Given the description of an element on the screen output the (x, y) to click on. 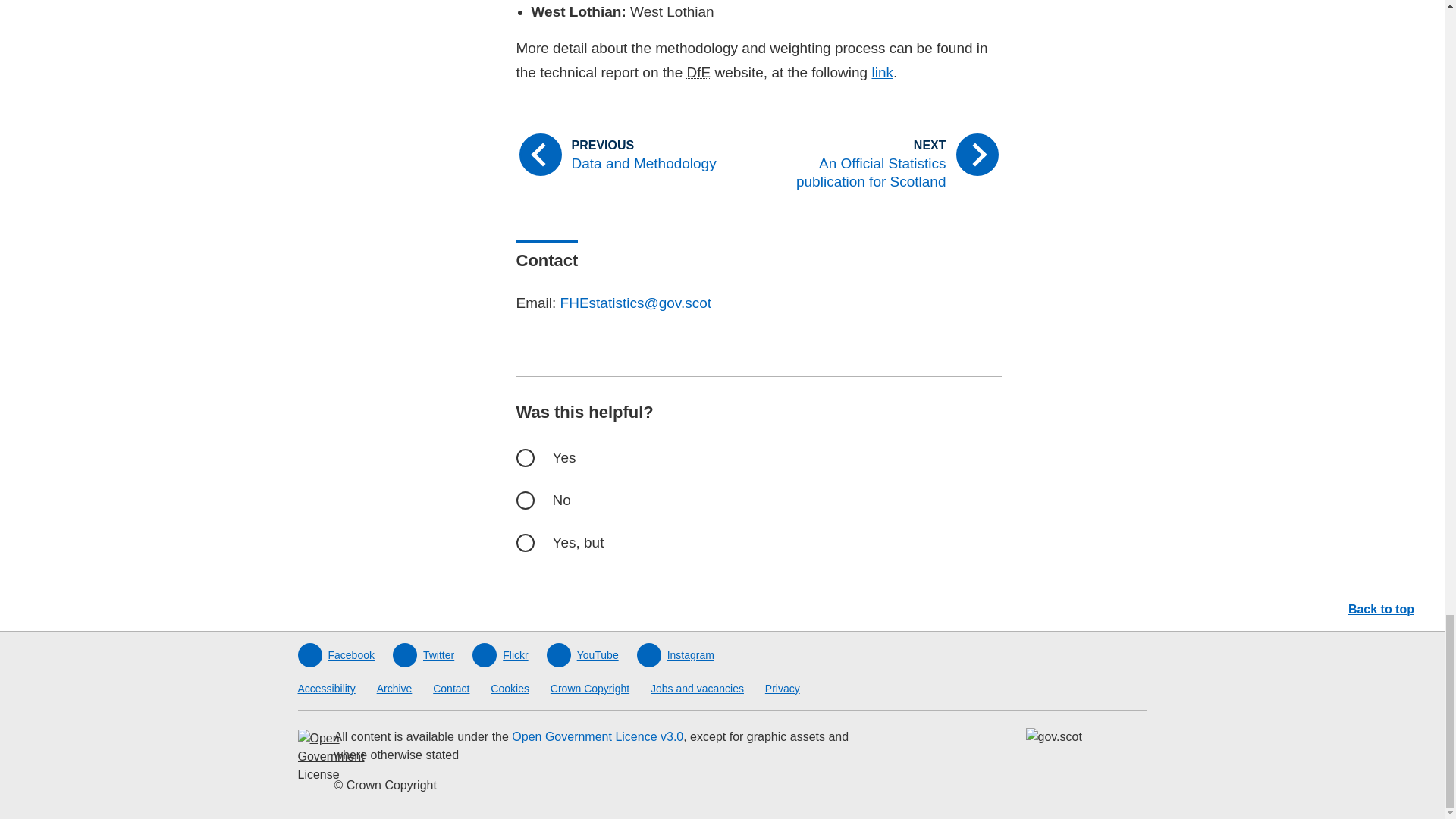
Twitter (423, 654)
Instagram (675, 654)
Flickr (499, 654)
Next page (885, 163)
Facebook (335, 654)
YouTube (582, 654)
Department for Education (697, 72)
Previous page (630, 154)
